Given the description of an element on the screen output the (x, y) to click on. 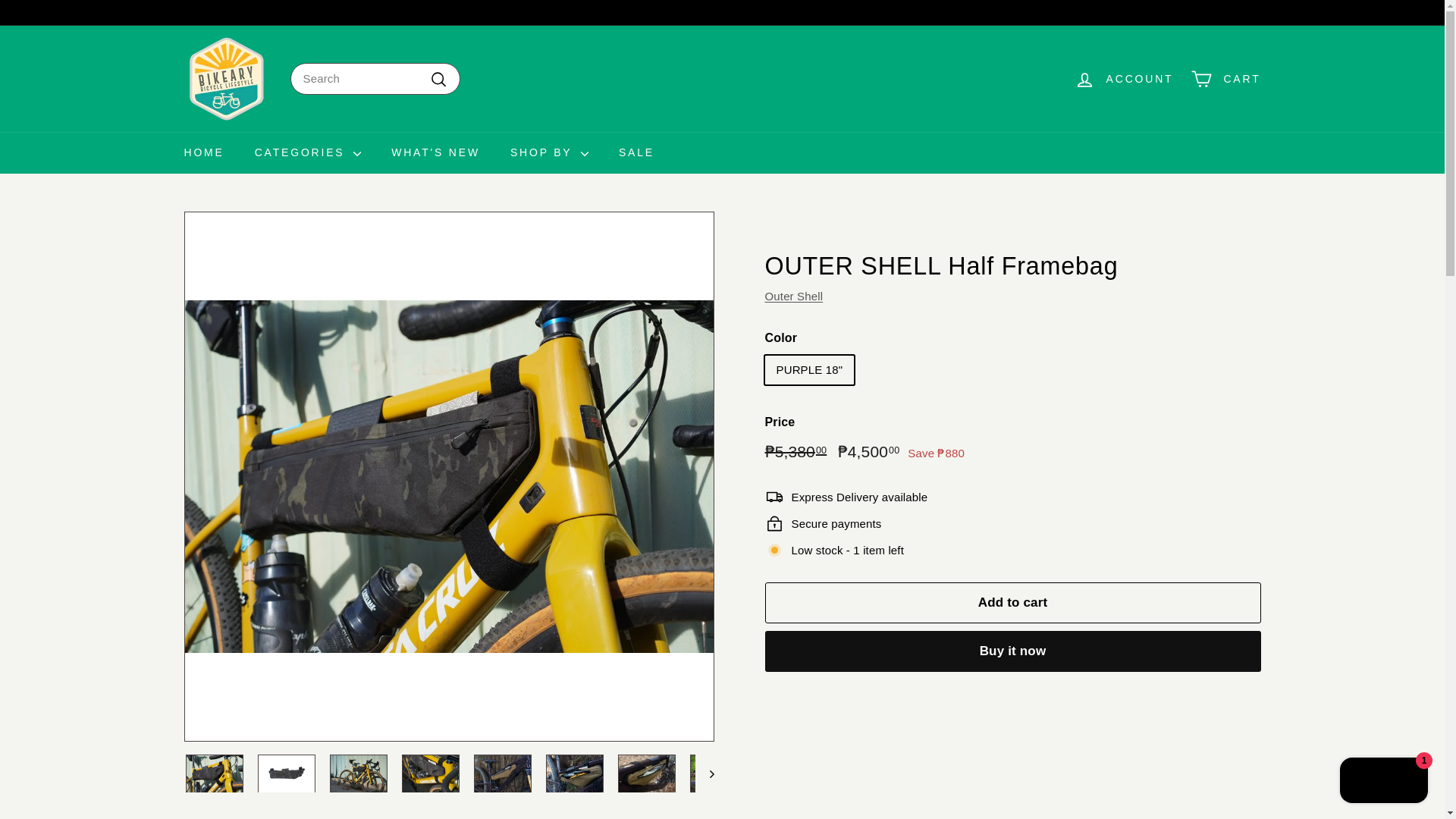
Shopify online store chat (1383, 781)
ACCOUNT (1123, 78)
CART (1225, 78)
HOME (203, 151)
